Given the description of an element on the screen output the (x, y) to click on. 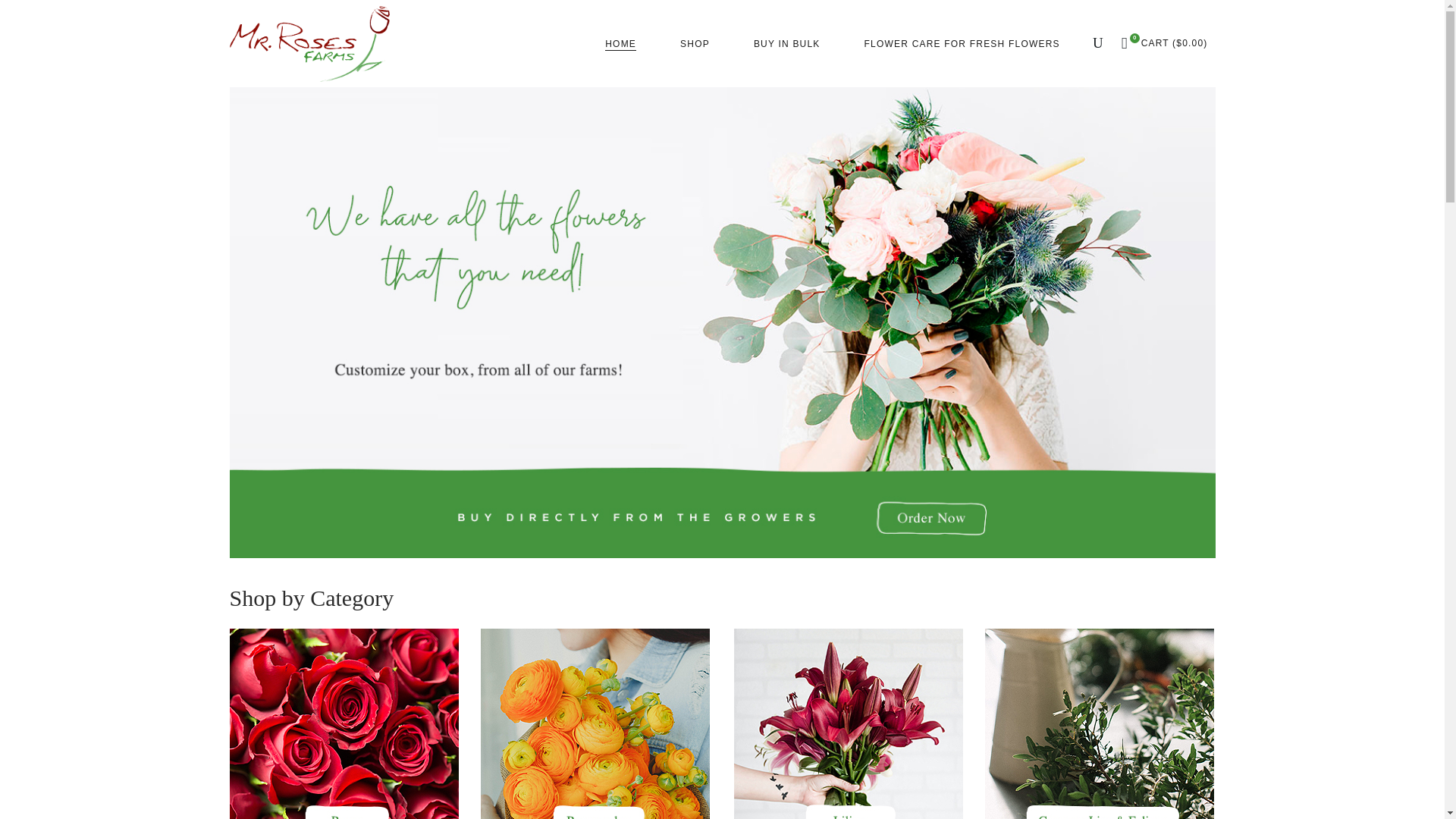
SHOP (695, 43)
BUY IN BULK (787, 43)
HOME (620, 43)
FLOWER CARE FOR FRESH FLOWERS (962, 43)
